Given the description of an element on the screen output the (x, y) to click on. 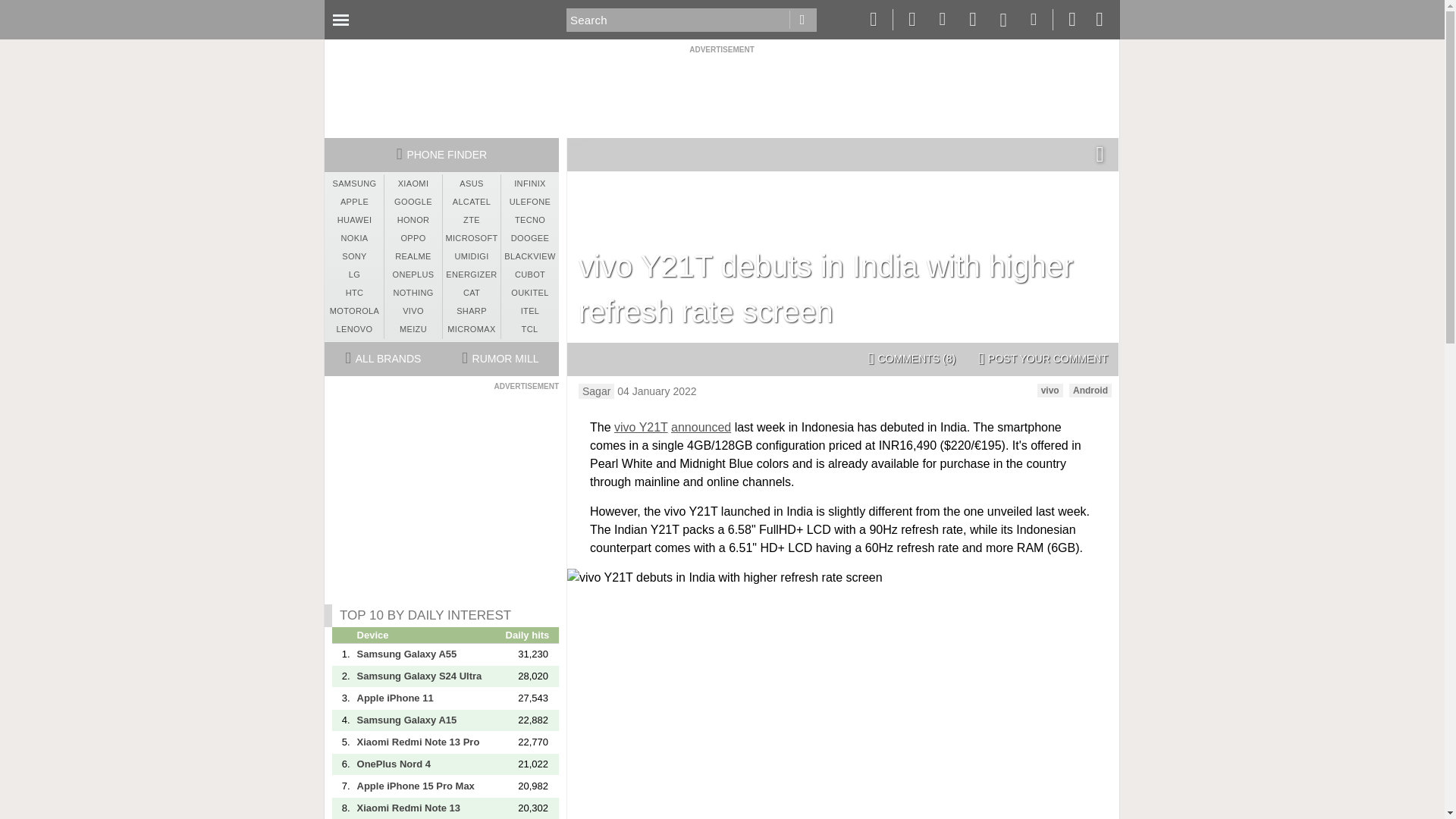
Android (1090, 390)
Go (802, 19)
announced (700, 427)
vivo Y21T (641, 427)
vivo (1049, 390)
Go (802, 19)
POST YOUR COMMENT (1042, 359)
Sagar (596, 391)
